Given the description of an element on the screen output the (x, y) to click on. 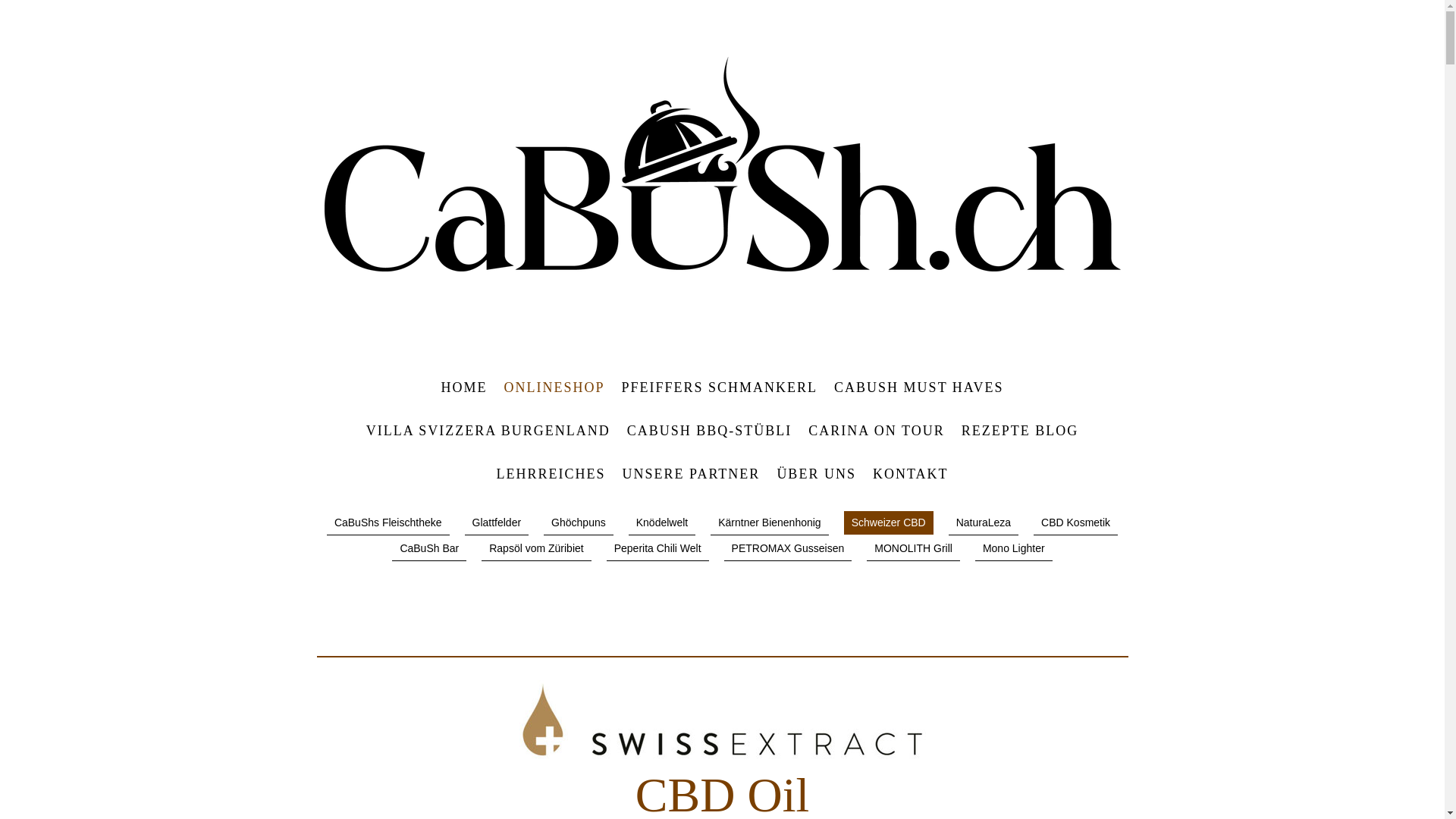
Peperita Chili Welt Element type: text (657, 548)
CABUSH MUST HAVES Element type: text (918, 387)
CARINA ON TOUR Element type: text (876, 430)
Schweizer CBD Element type: text (888, 523)
PETROMAX Gusseisen Element type: text (788, 548)
Glattfelder Element type: text (496, 523)
NaturaLeza Element type: text (983, 523)
PFEIFFERS SCHMANKERL Element type: text (719, 387)
LEHRREICHES Element type: text (551, 474)
VILLA SVIZZERA BURGENLAND Element type: text (487, 430)
KONTAKT Element type: text (910, 474)
ONLINESHOP Element type: text (554, 387)
CaBuSh Bar Element type: text (429, 548)
HOME Element type: text (464, 387)
MONOLITH Grill Element type: text (913, 548)
REZEPTE BLOG Element type: text (1020, 430)
Mono Lighter Element type: text (1013, 548)
CBD Kosmetik Element type: text (1075, 523)
CaBuShs Fleischtheke Element type: text (387, 523)
UNSERE PARTNER Element type: text (691, 474)
